Given the description of an element on the screen output the (x, y) to click on. 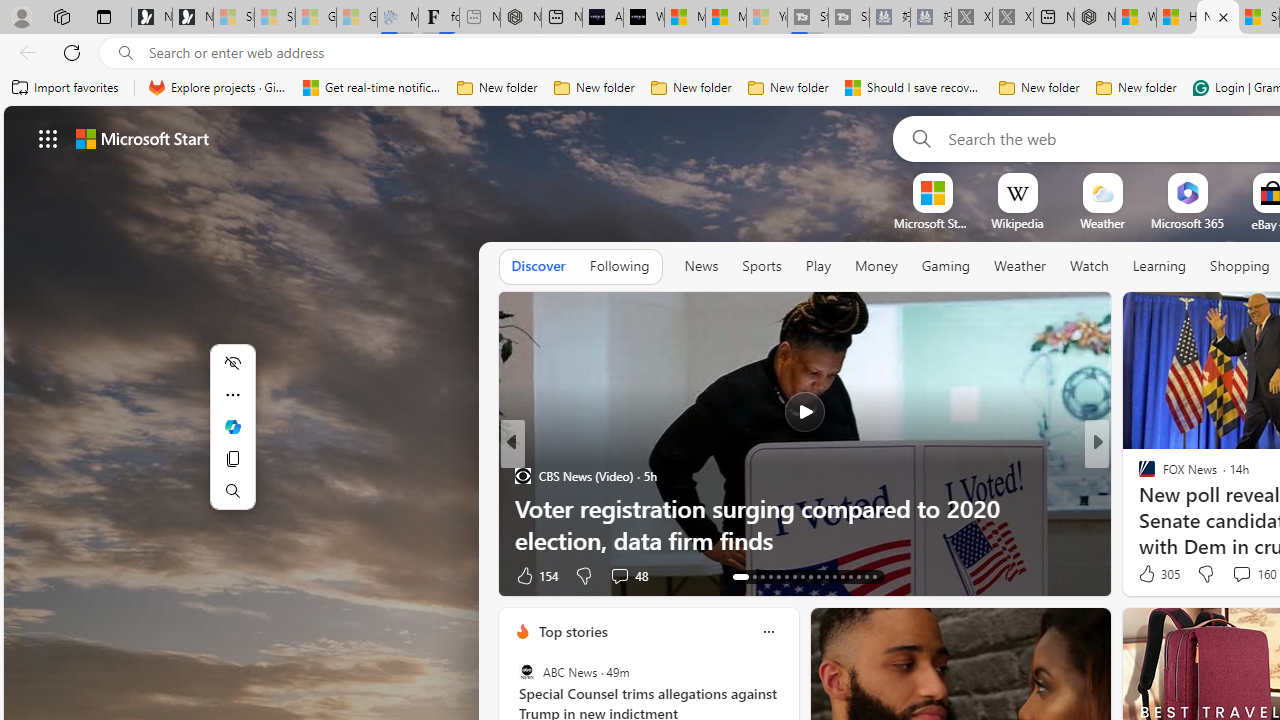
Business Insider (1138, 475)
Microsoft Start Sports (684, 17)
AutomationID: tab-20 (801, 576)
Like (1140, 574)
Eat This, Not That! (1138, 507)
View comments 6 Comment (1234, 575)
Nordace.com (1165, 507)
Mini menu on text selection (232, 439)
AutomationID: tab-14 (748, 576)
Wildlife - MSN (1135, 17)
Gaming (945, 267)
Personal Profile (21, 16)
Watch (1089, 267)
Search icon (125, 53)
AutomationID: tab-40 (850, 576)
